Given the description of an element on the screen output the (x, y) to click on. 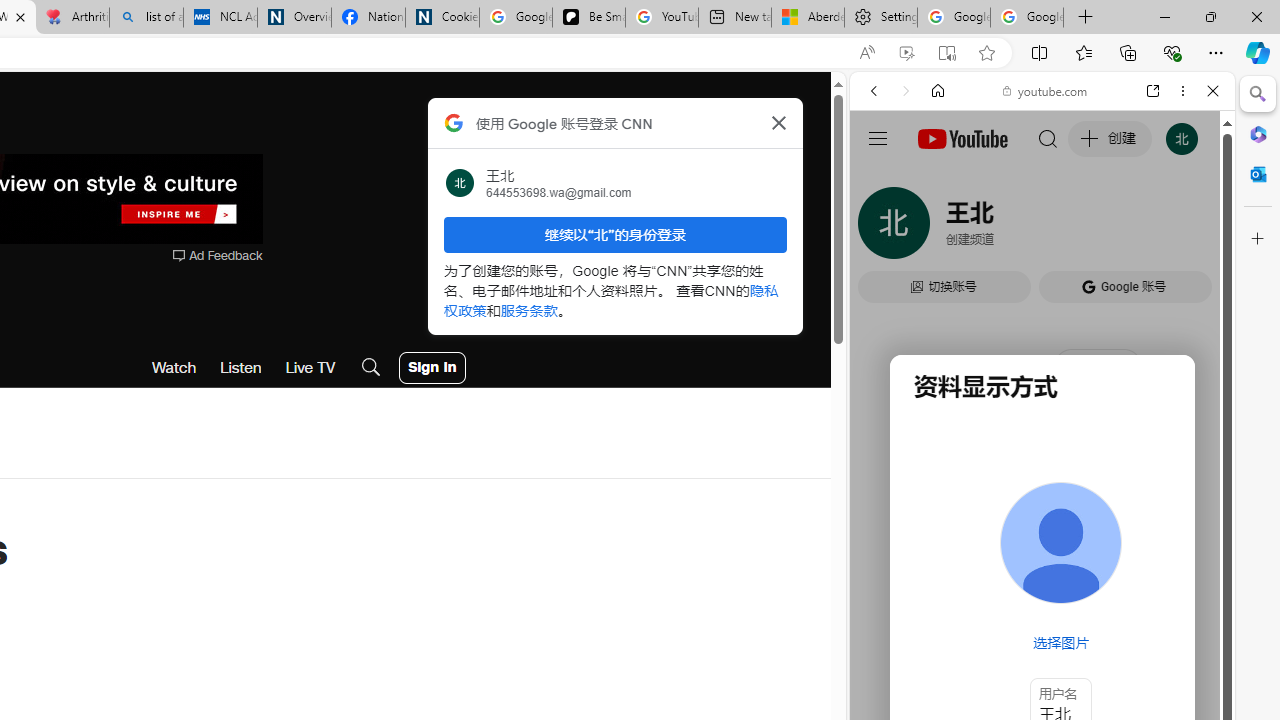
Aberdeen, Hong Kong SAR hourly forecast | Microsoft Weather (807, 17)
User Account Log In Button (432, 367)
